Given the description of an element on the screen output the (x, y) to click on. 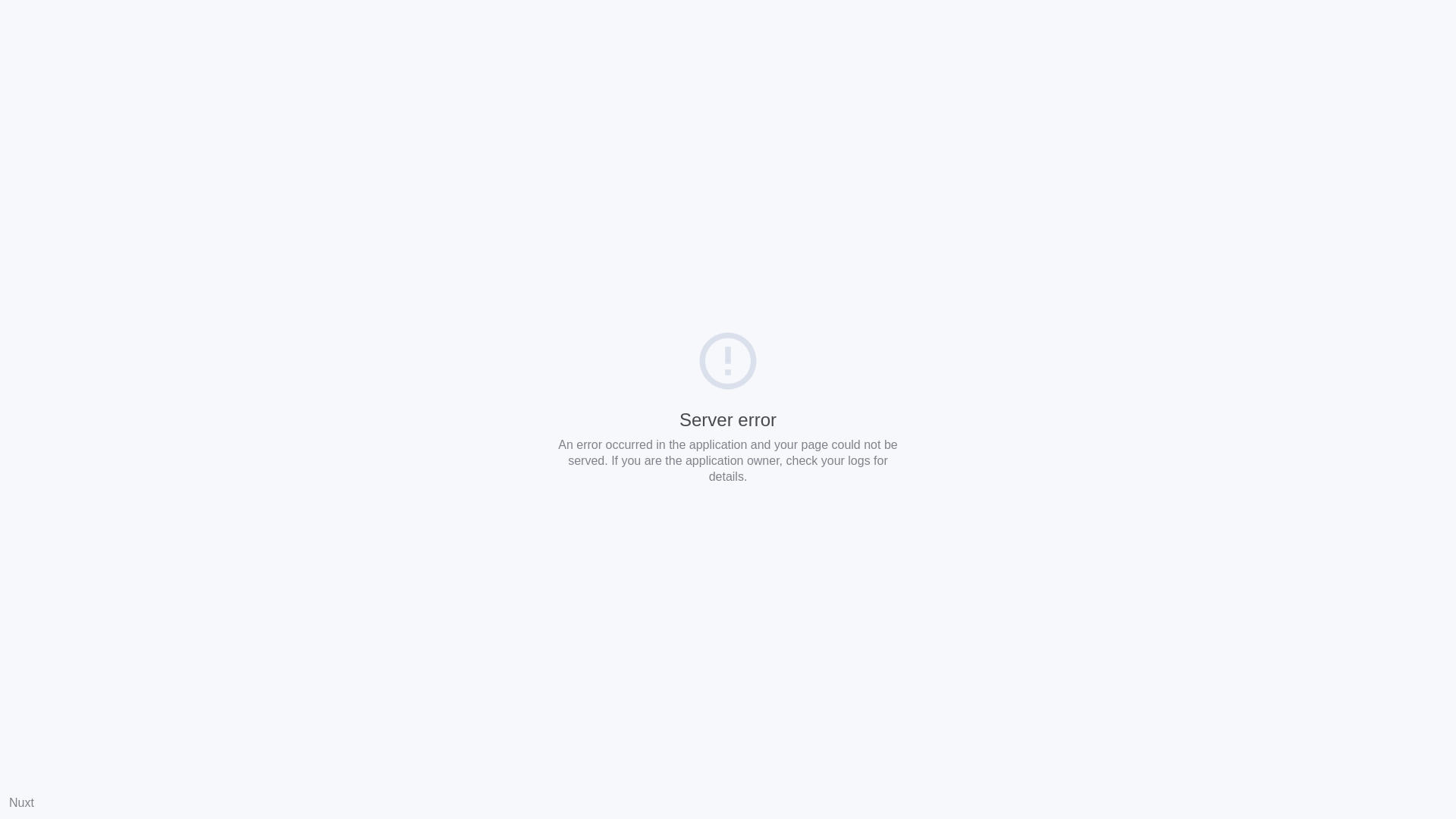
Nuxt Element type: text (21, 802)
